Given the description of an element on the screen output the (x, y) to click on. 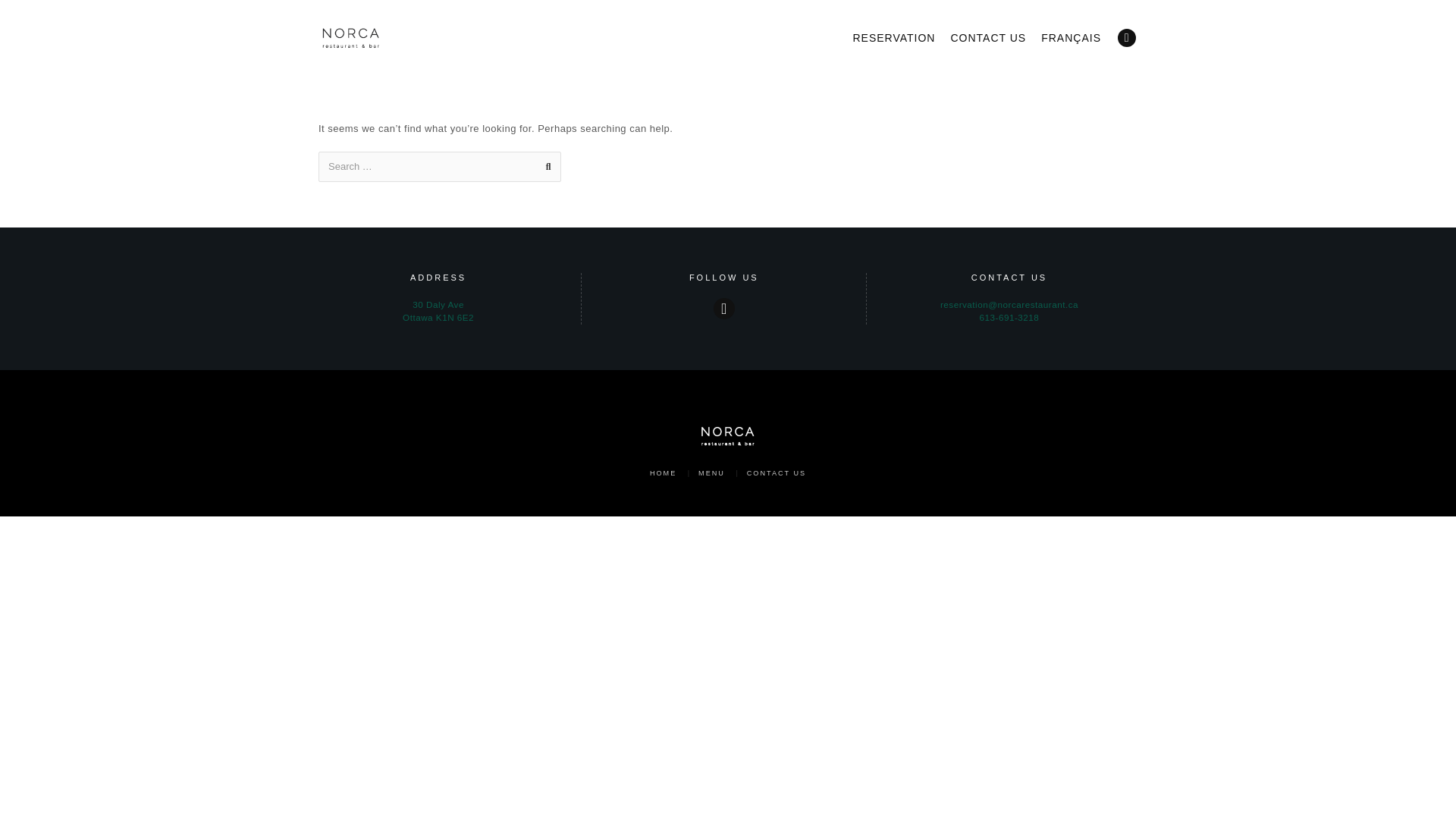
RESERVATION (892, 37)
HOME (663, 472)
MENU (711, 472)
CONTACT US (438, 310)
CONTACT US (988, 37)
Go (776, 472)
